Given the description of an element on the screen output the (x, y) to click on. 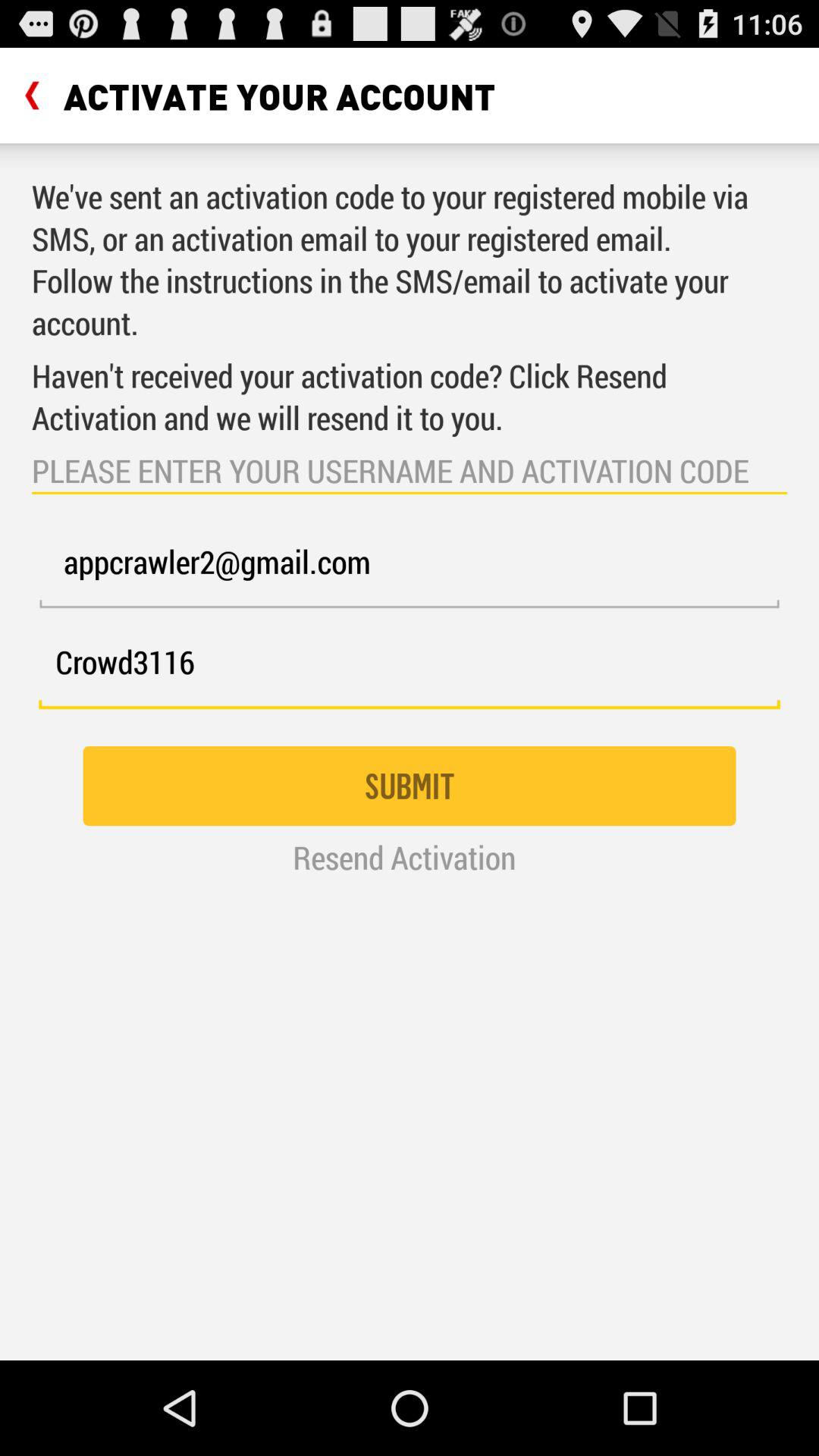
open the icon above crowd3116 (409, 570)
